Given the description of an element on the screen output the (x, y) to click on. 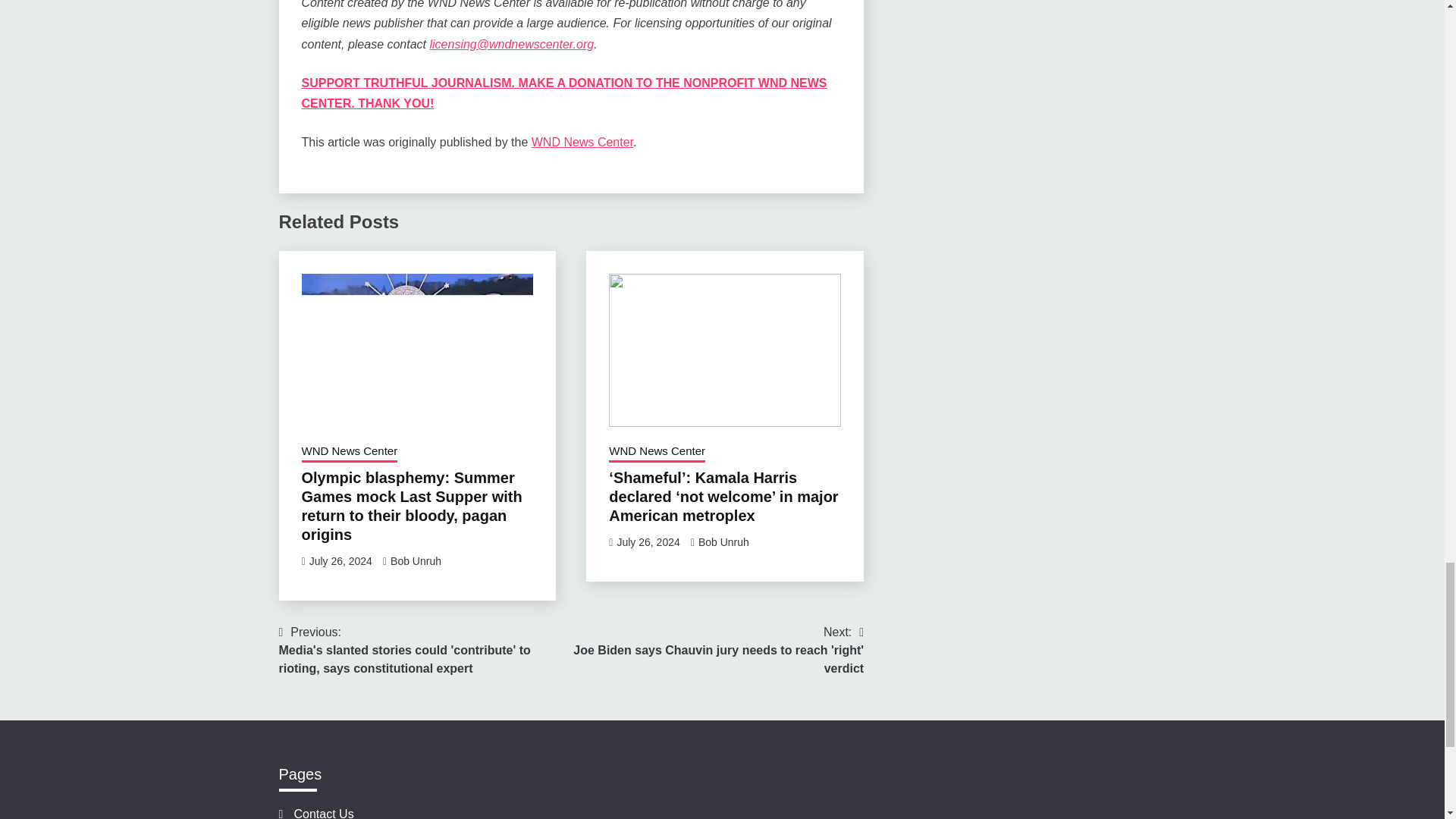
WND News Center (349, 452)
WND News Center (656, 452)
Bob Unruh (723, 541)
July 26, 2024 (647, 541)
July 26, 2024 (340, 561)
WND News Center (582, 141)
Bob Unruh (415, 561)
